Given the description of an element on the screen output the (x, y) to click on. 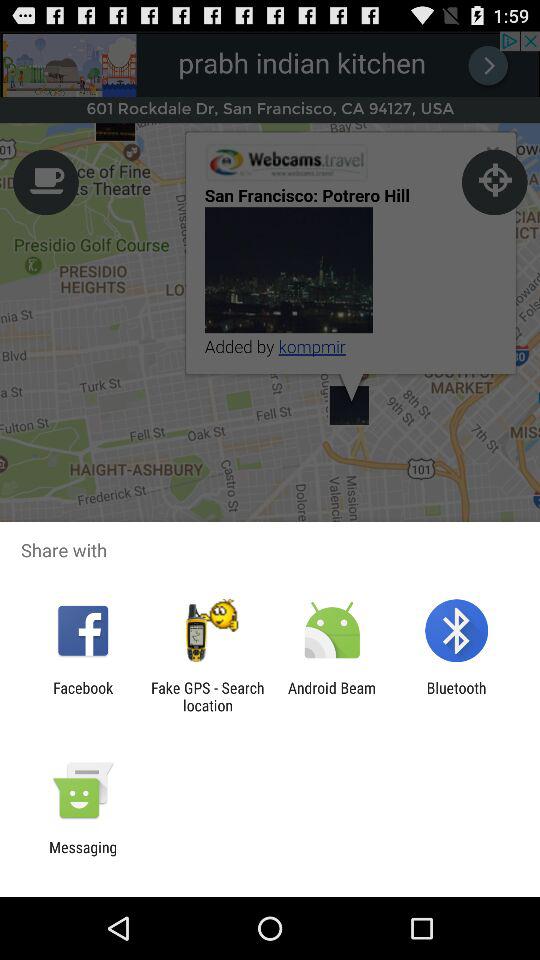
click messaging icon (83, 856)
